Given the description of an element on the screen output the (x, y) to click on. 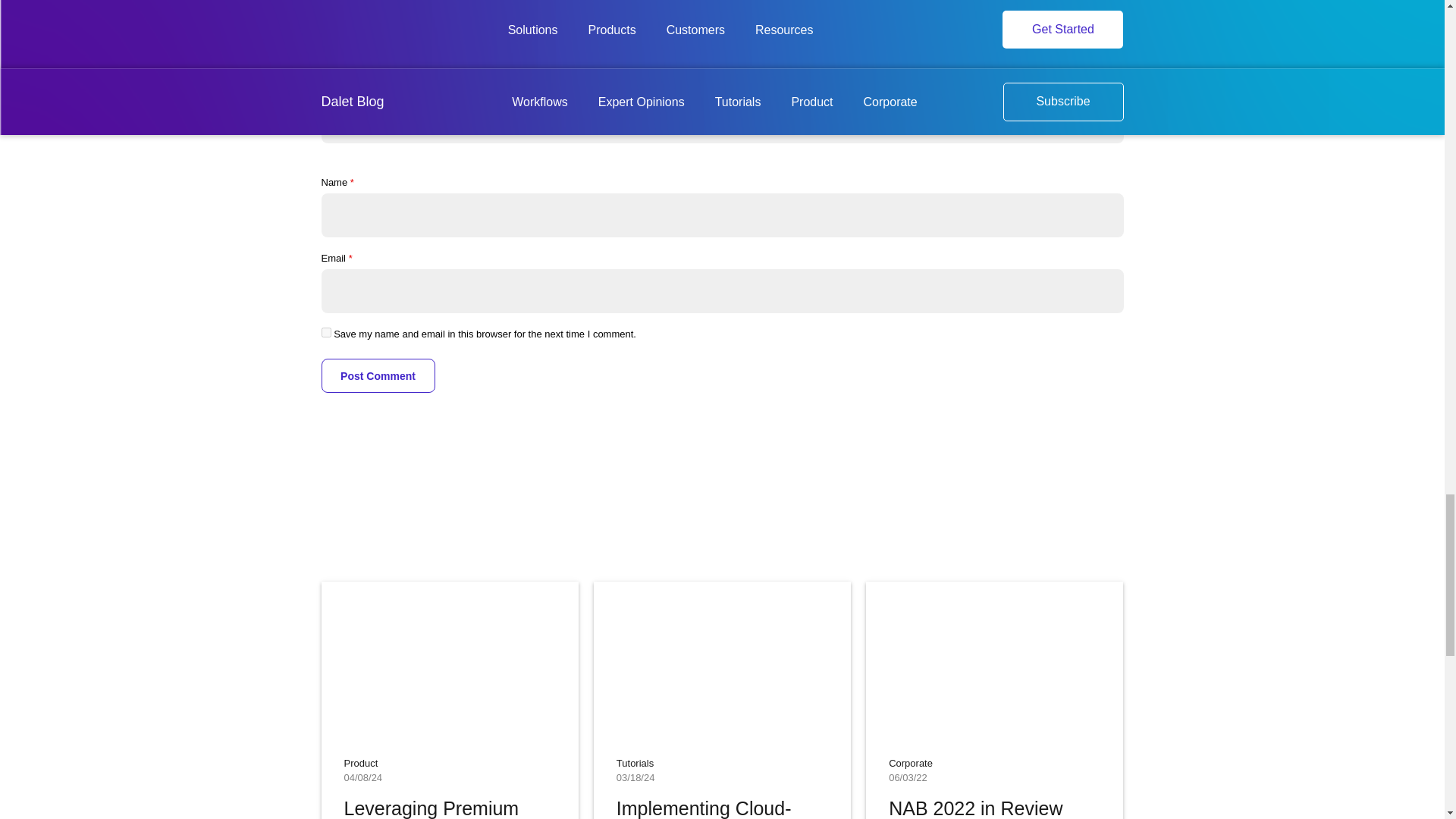
yes (326, 332)
Post Comment (378, 375)
